Given the description of an element on the screen output the (x, y) to click on. 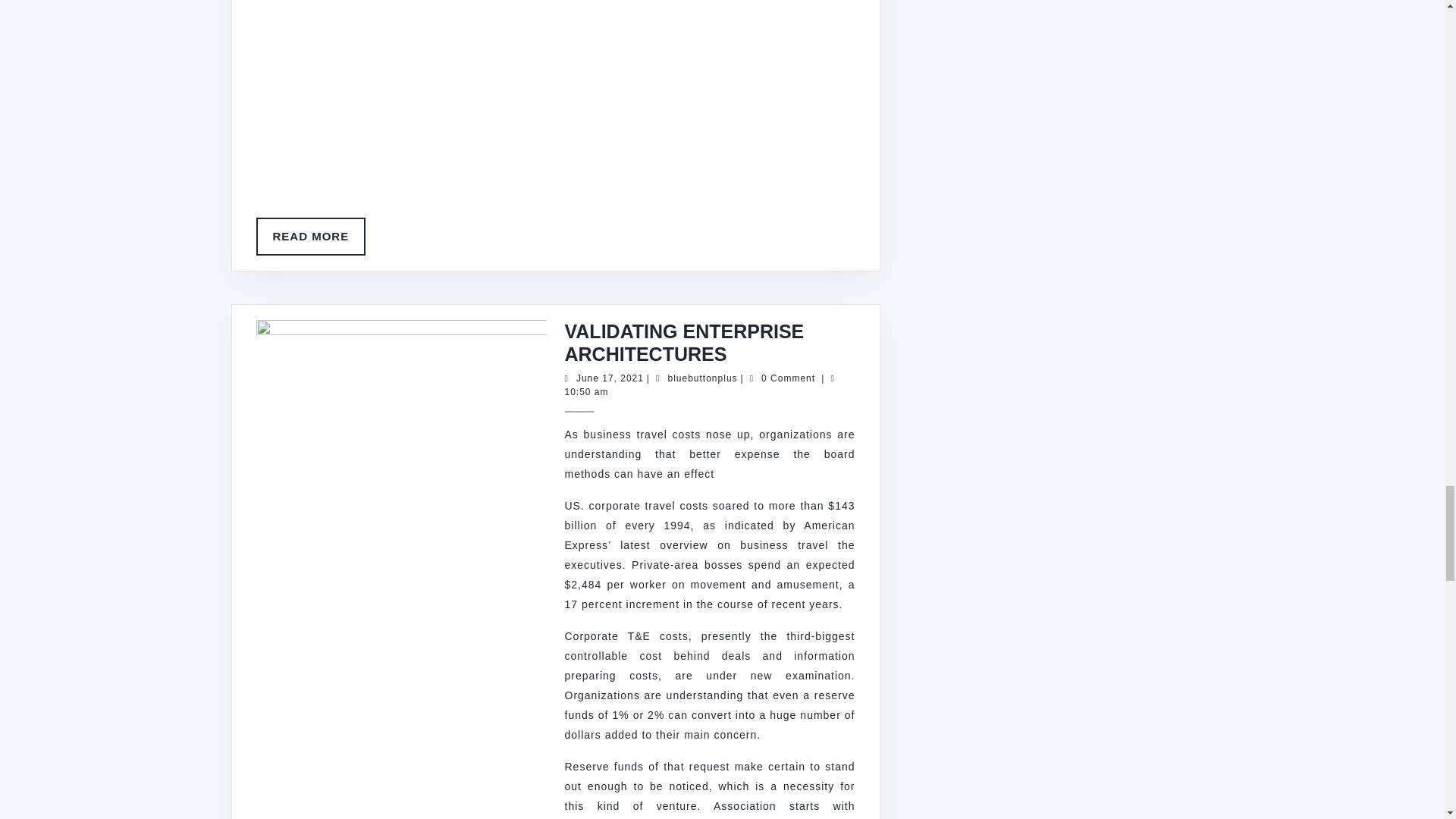
Validating Enterprise Architectures (683, 342)
